Given the description of an element on the screen output the (x, y) to click on. 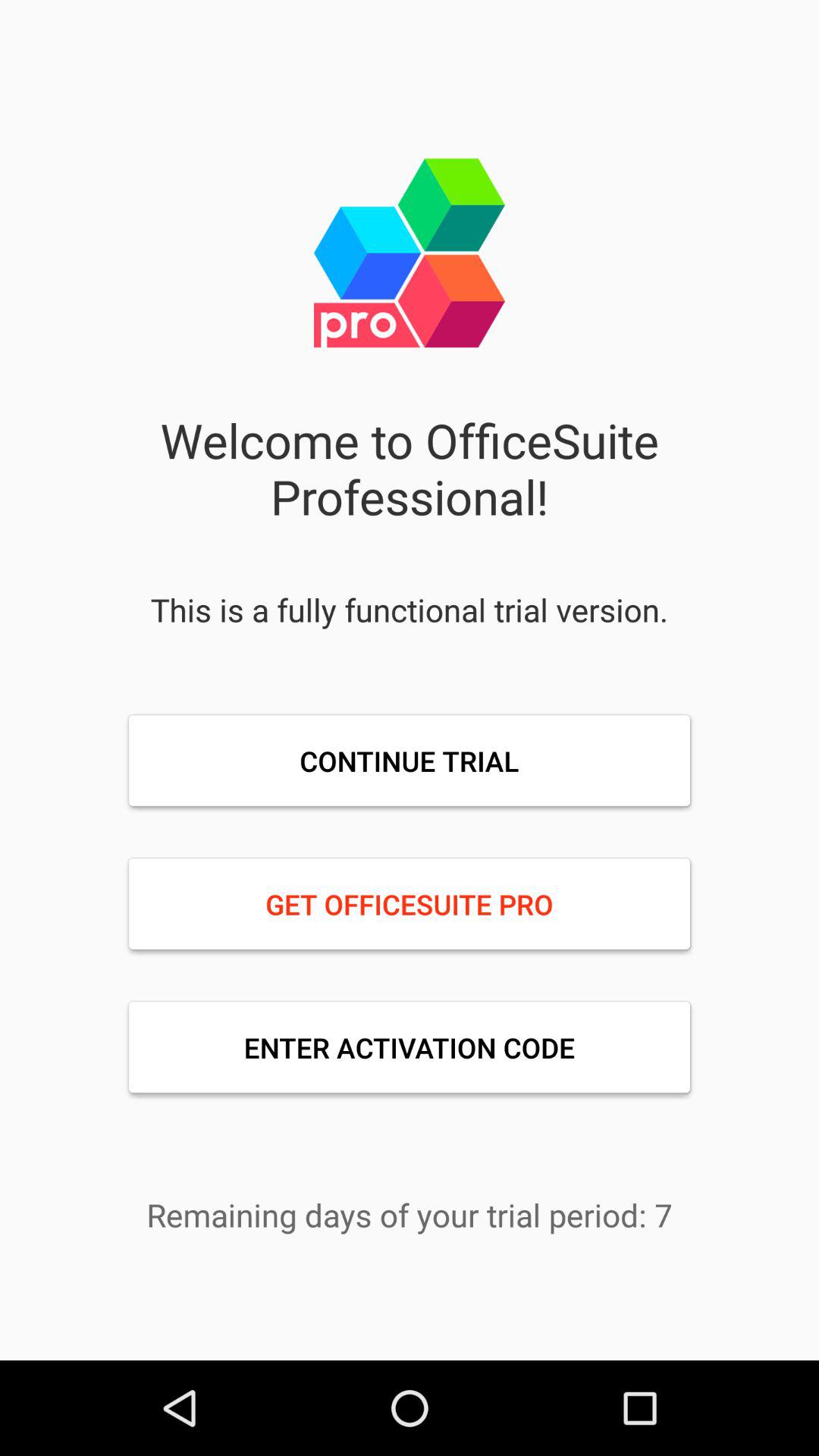
flip until continue trial icon (409, 760)
